Given the description of an element on the screen output the (x, y) to click on. 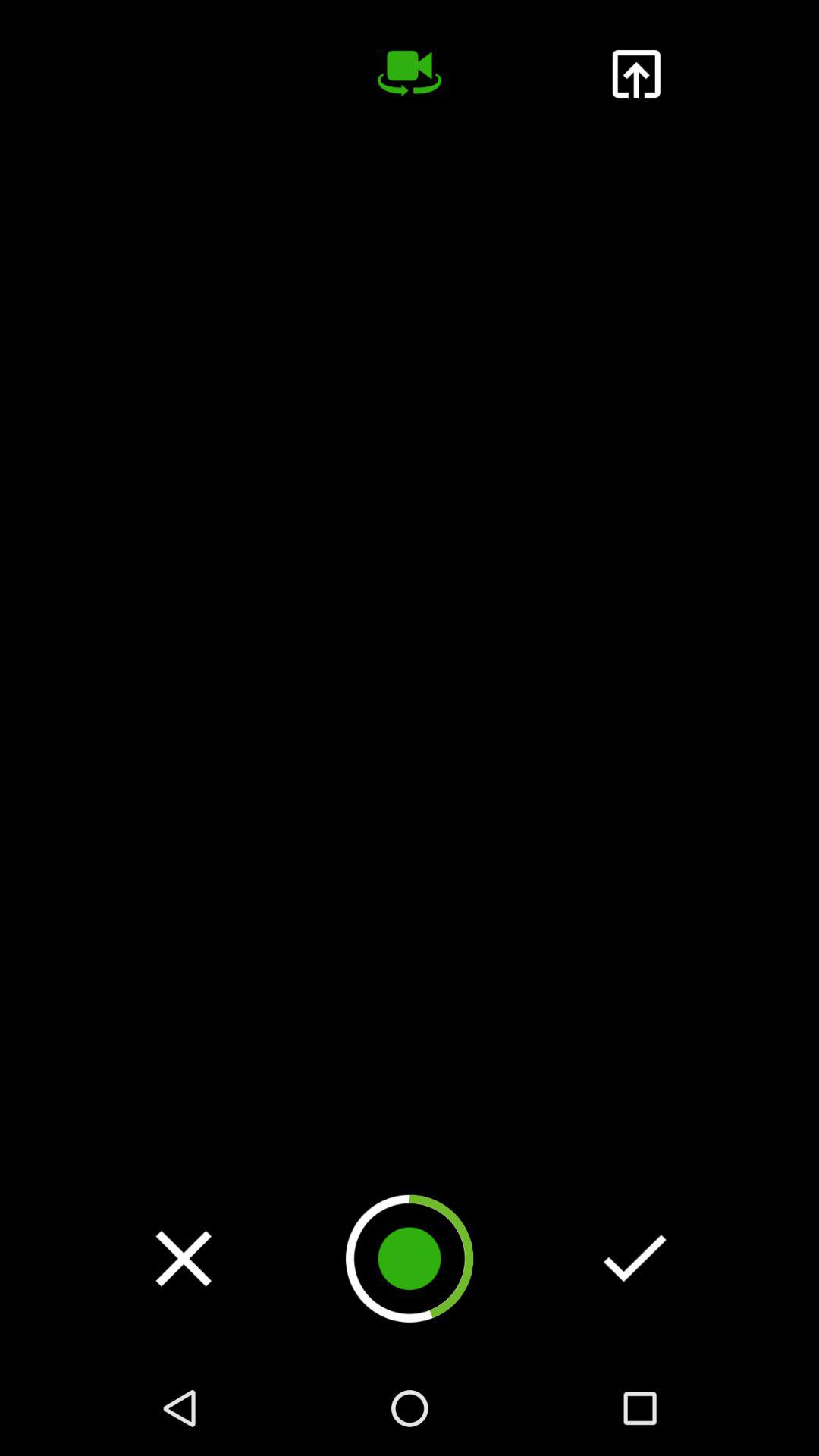
share (635, 73)
